Given the description of an element on the screen output the (x, y) to click on. 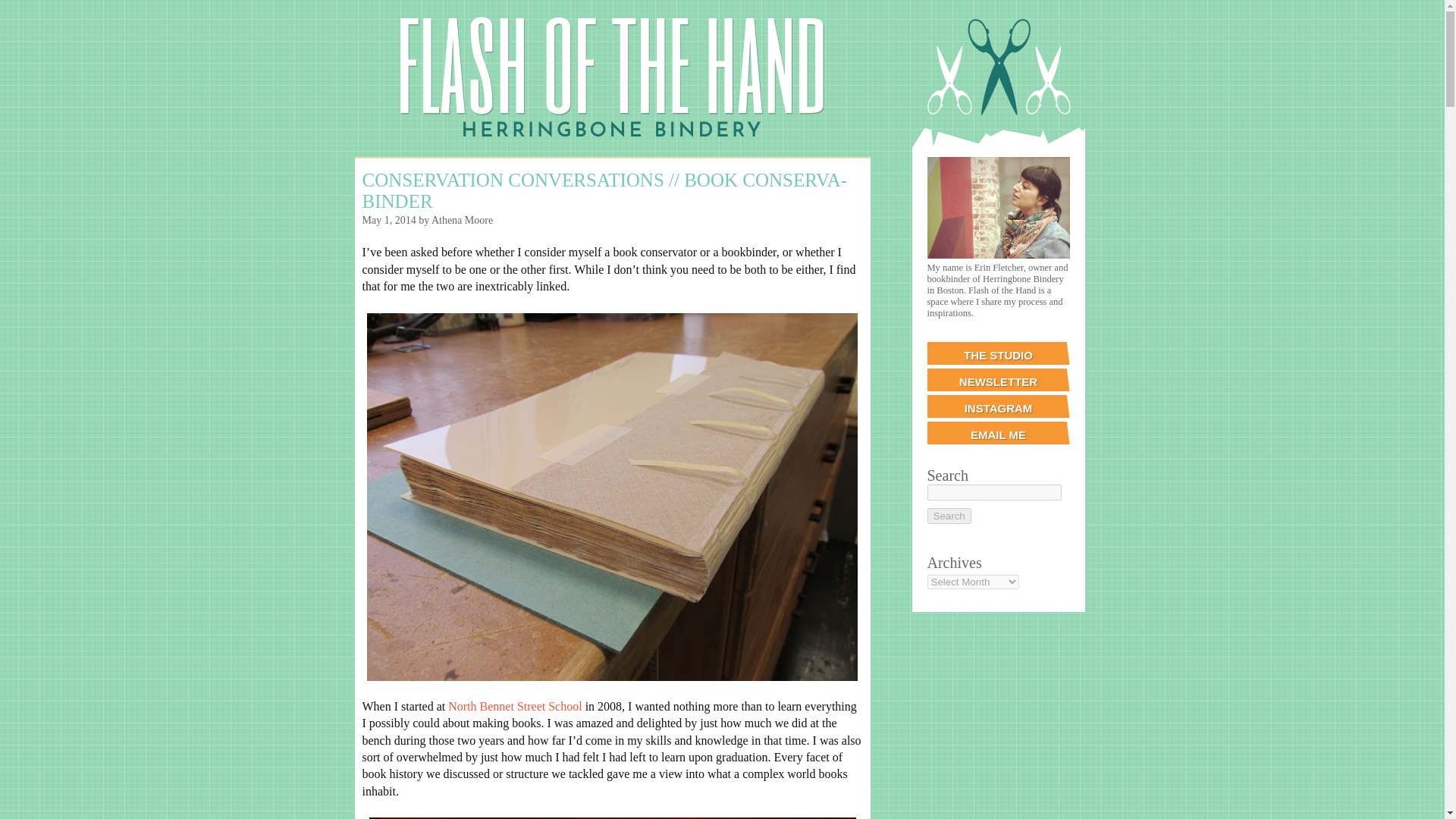
North Bennet Street School (514, 706)
RSS Feed (364, 13)
Search (948, 515)
